Given the description of an element on the screen output the (x, y) to click on. 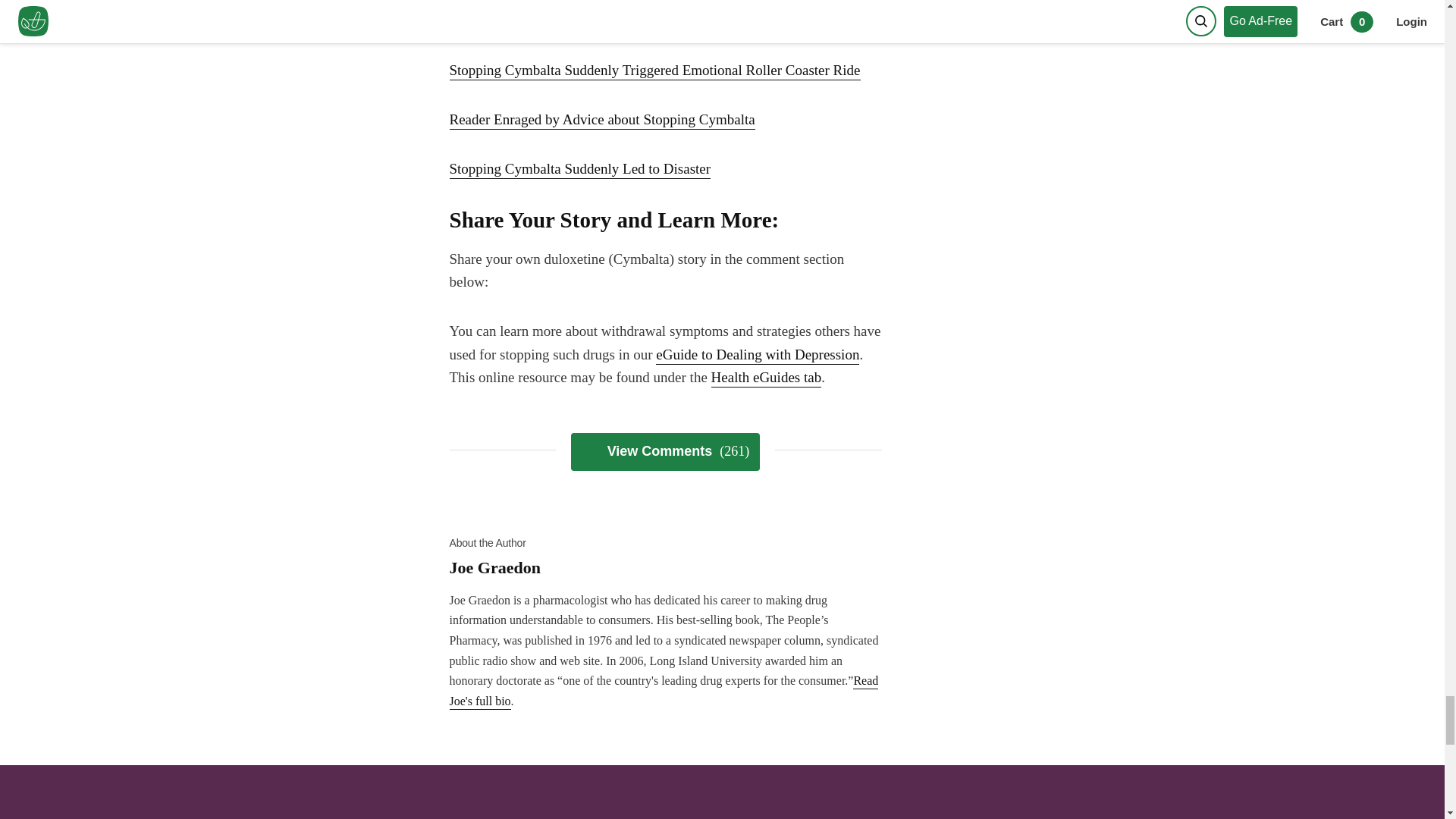
Read Joe's full bio (662, 692)
eGuide to Dealing with Depression (757, 355)
Joe Graedon (664, 576)
Reader Enraged by Advice about Stopping Cymbalta (601, 120)
Health eGuides tab (766, 378)
Stopping Cymbalta Suddenly Led to Disaster (579, 169)
